Given the description of an element on the screen output the (x, y) to click on. 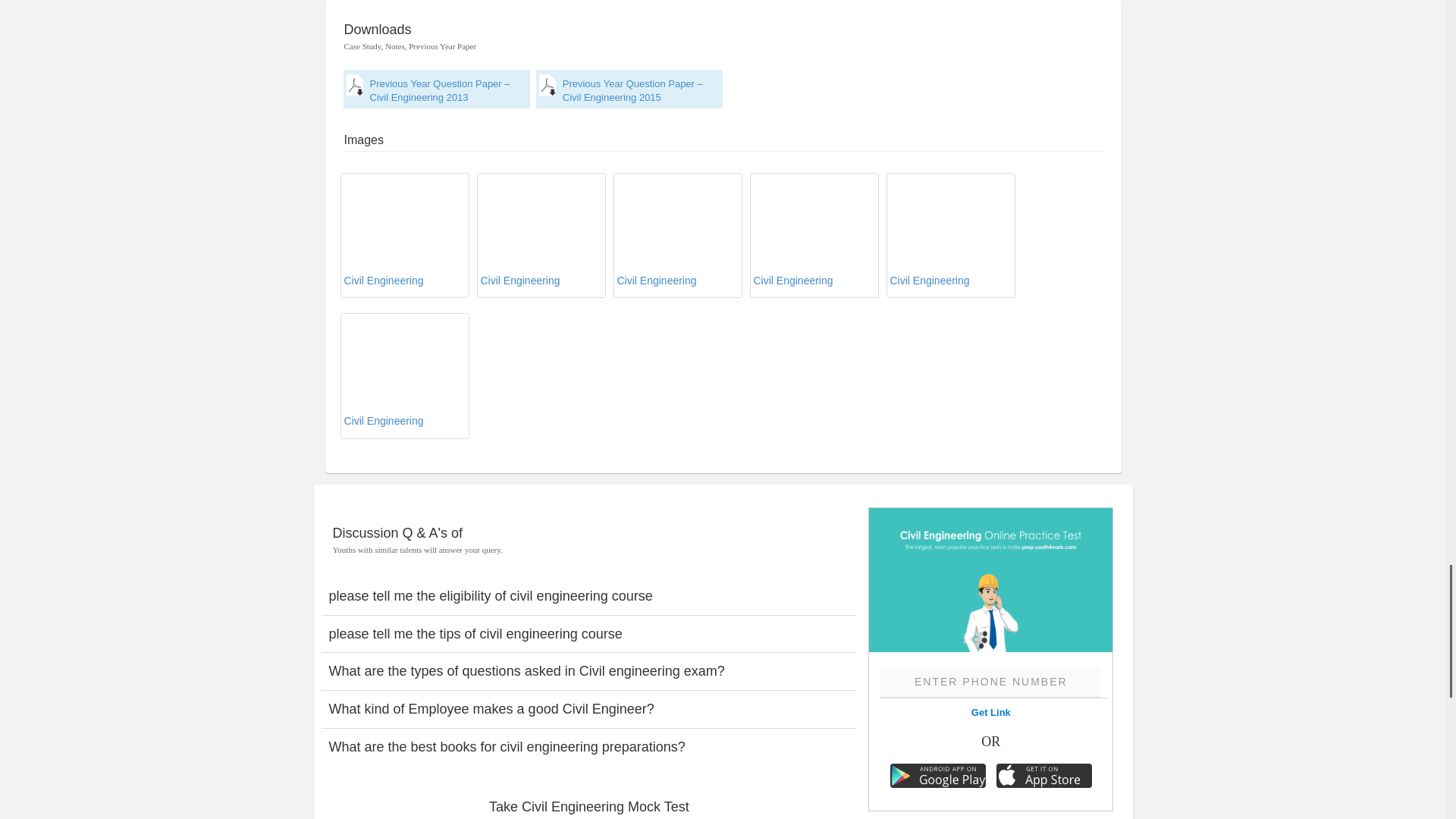
ENTER PHONE NUMBER (990, 682)
